Given the description of an element on the screen output the (x, y) to click on. 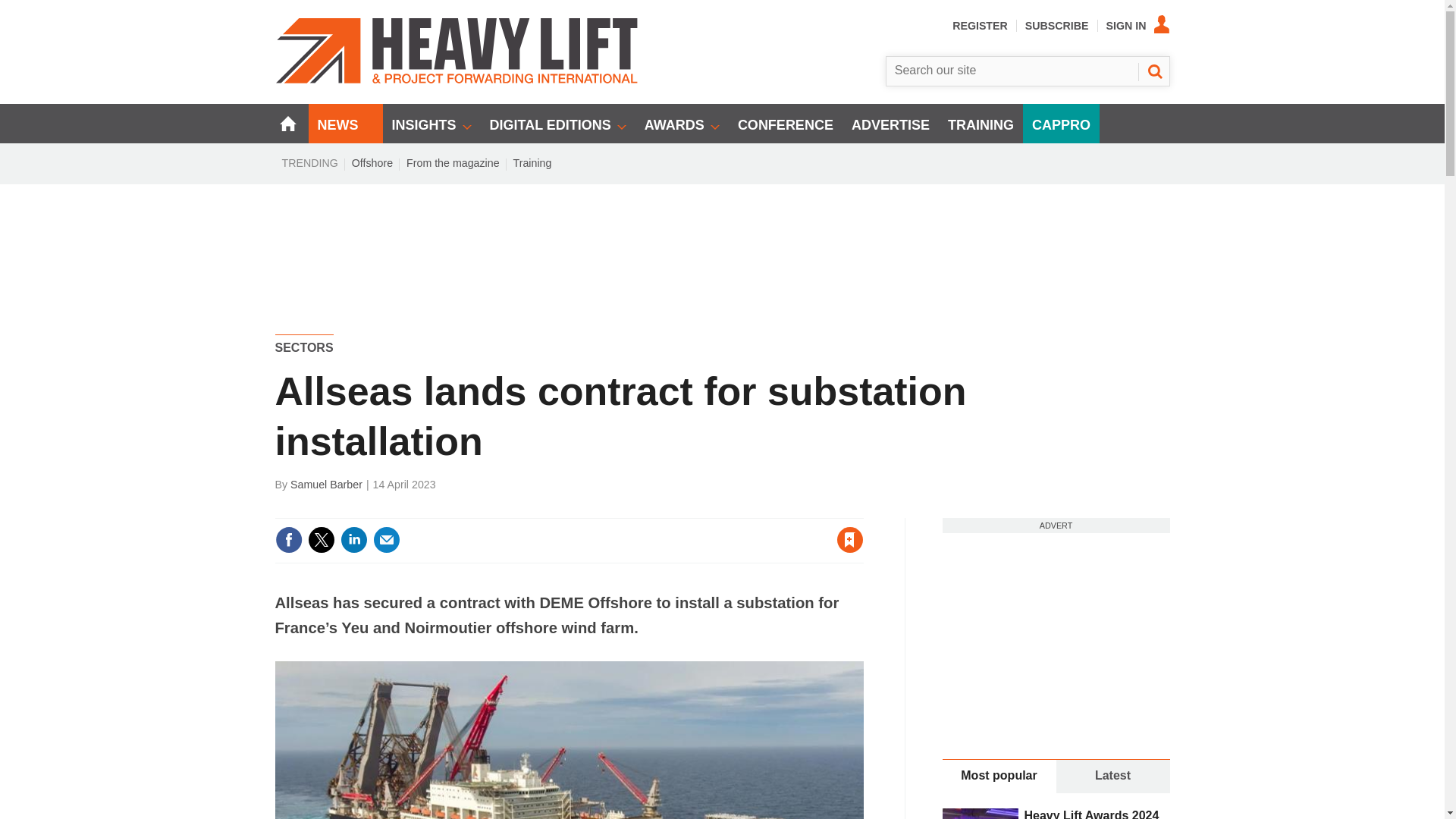
Share this on Twitter (320, 539)
Site name (457, 80)
SIGN IN (1138, 25)
SEARCH (1153, 70)
3rd party ad content (722, 236)
Training (532, 162)
Offshore (371, 162)
From the magazine (452, 162)
3rd party ad content (1055, 627)
SUBSCRIBE (1057, 25)
REGISTER (979, 25)
Share this on Linked in (352, 539)
Share this on Facebook (288, 539)
Email this article (386, 539)
